Given the description of an element on the screen output the (x, y) to click on. 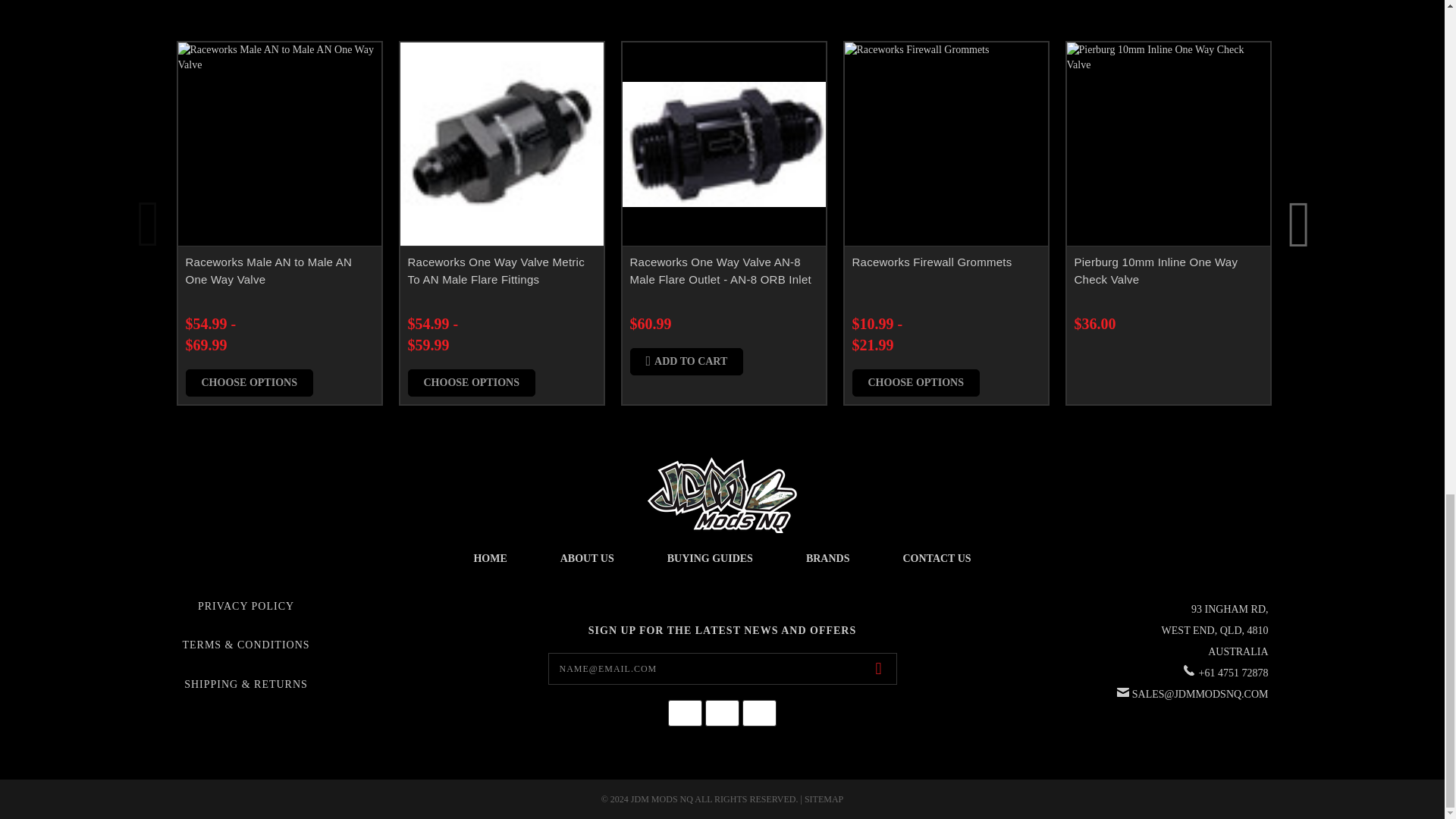
Raceworks Male AN to Male AN One Way Valve (278, 143)
Raceworks One Way Valve Metric To AN Male Flare Fittings (502, 143)
